Given the description of an element on the screen output the (x, y) to click on. 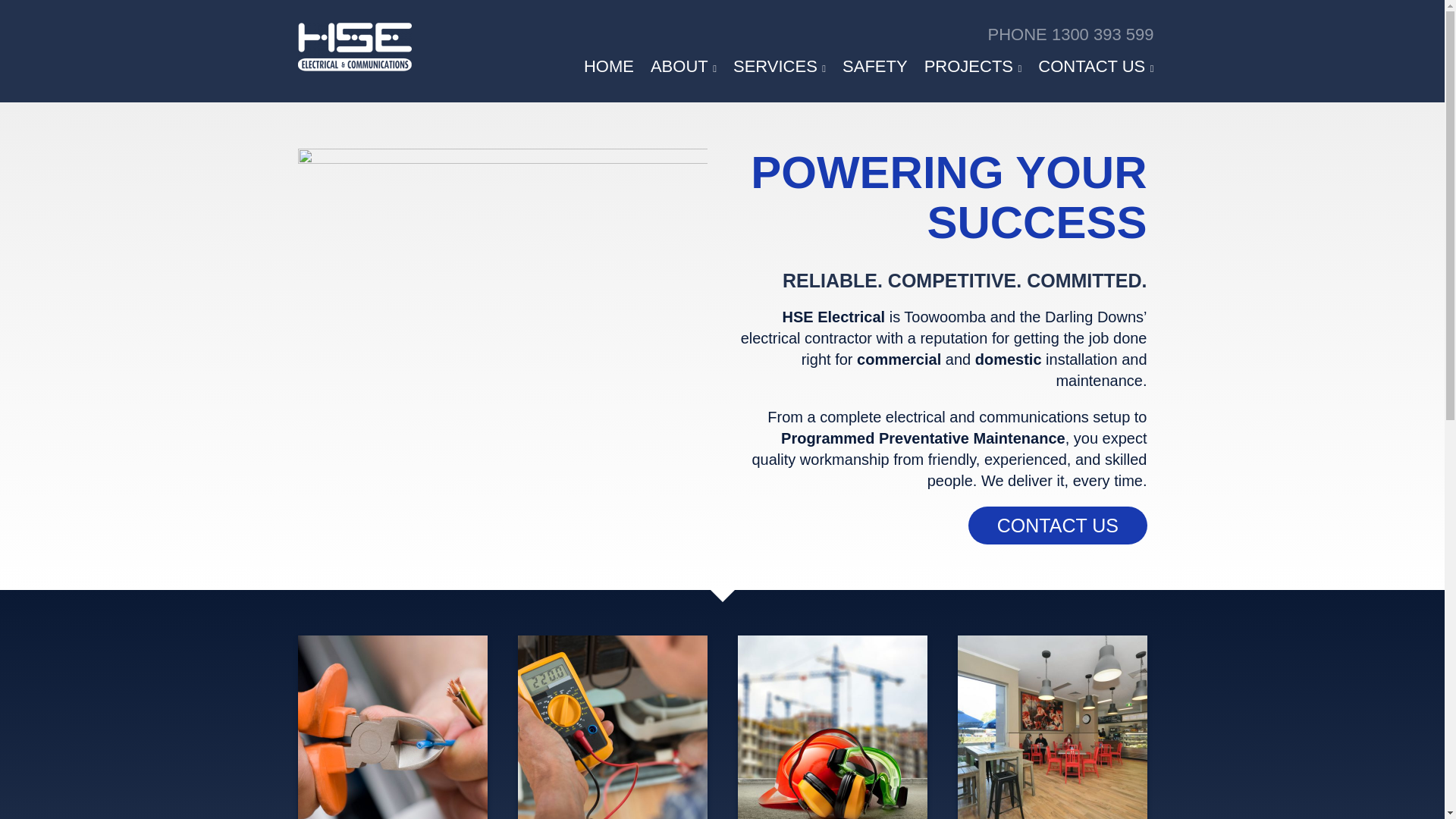
ABOUT Element type: text (683, 67)
PHONE 1300 393 599 Element type: text (835, 31)
HOME Element type: text (608, 67)
SERVICES Element type: text (779, 67)
CONTACT US Element type: text (1095, 67)
PROJECTS Element type: text (973, 67)
CONTACT US Element type: text (1057, 525)
SAFETY Element type: text (875, 67)
